Given the description of an element on the screen output the (x, y) to click on. 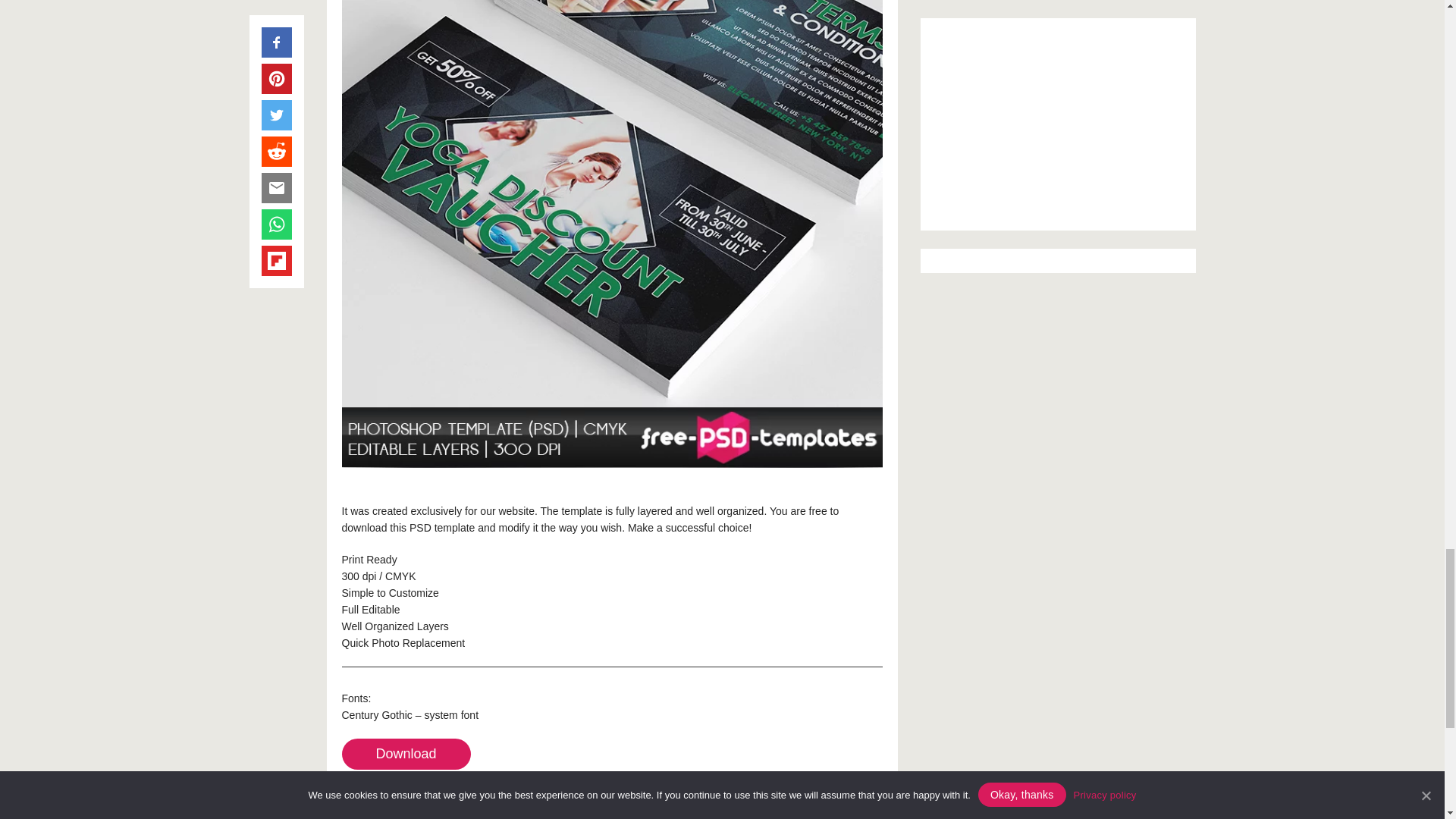
Free Ping Pong Ball Mock-up in PSD (468, 815)
Free Brand Book 16 pages A5 (754, 815)
